Given the description of an element on the screen output the (x, y) to click on. 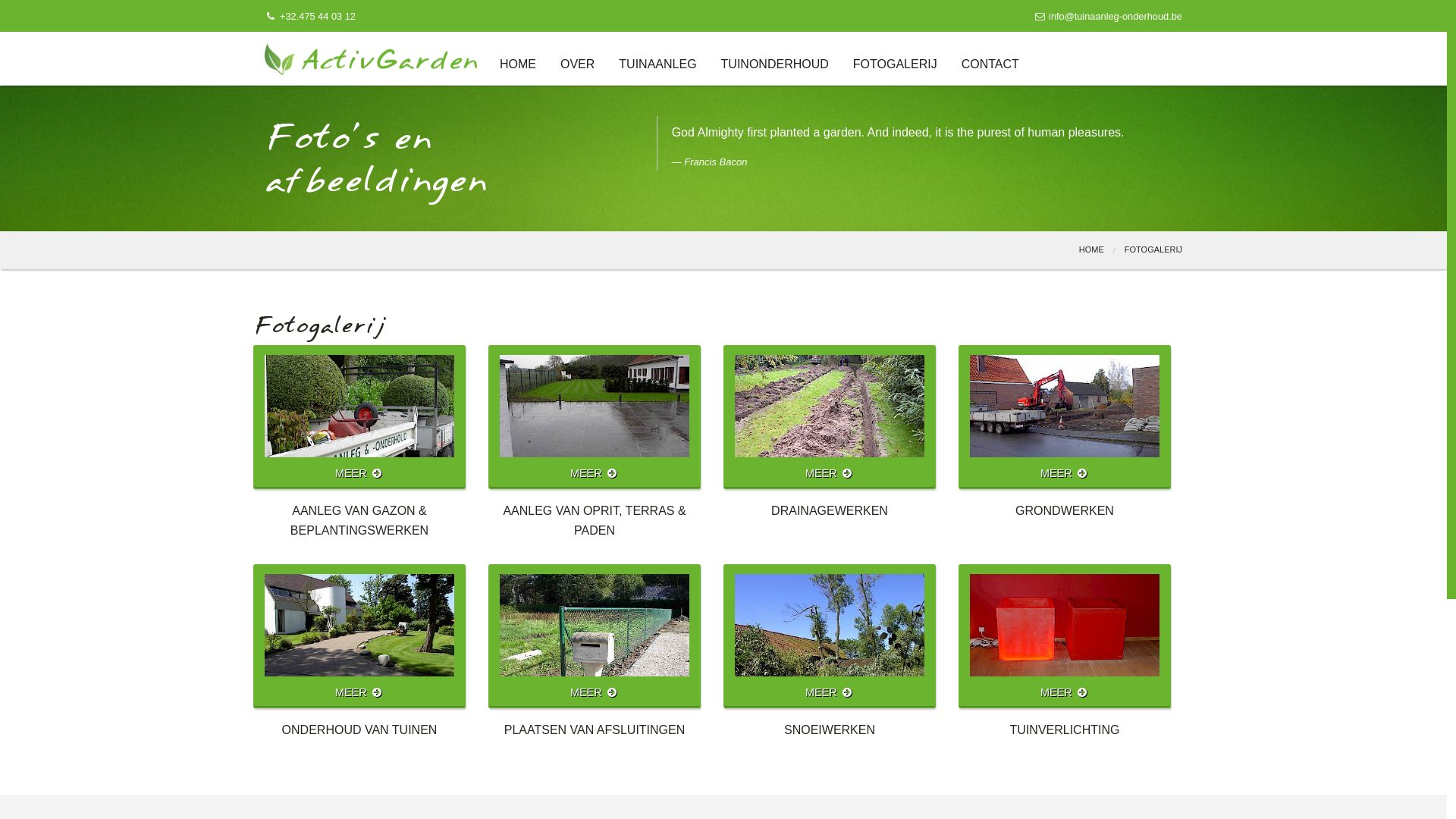
HOME Element type: text (523, 64)
FOTOGALERIJ Element type: text (894, 64)
FOTOGALERIJ Element type: text (1153, 249)
TUINONDERHOUD Element type: text (774, 64)
MEER Element type: text (829, 417)
MEER Element type: text (594, 636)
MEER Element type: text (359, 417)
MEER Element type: text (1064, 417)
MEER Element type: text (829, 636)
CONTACT Element type: text (984, 64)
info@tuinaanleg-onderhoud.be Element type: text (1107, 15)
OVER Element type: text (577, 64)
MEER Element type: text (594, 417)
MEER Element type: text (359, 636)
Website ActivGarden Element type: hover (370, 57)
MEER Element type: text (1064, 636)
TUINAANLEG Element type: text (657, 64)
HOME Element type: text (1091, 249)
